Given the description of an element on the screen output the (x, y) to click on. 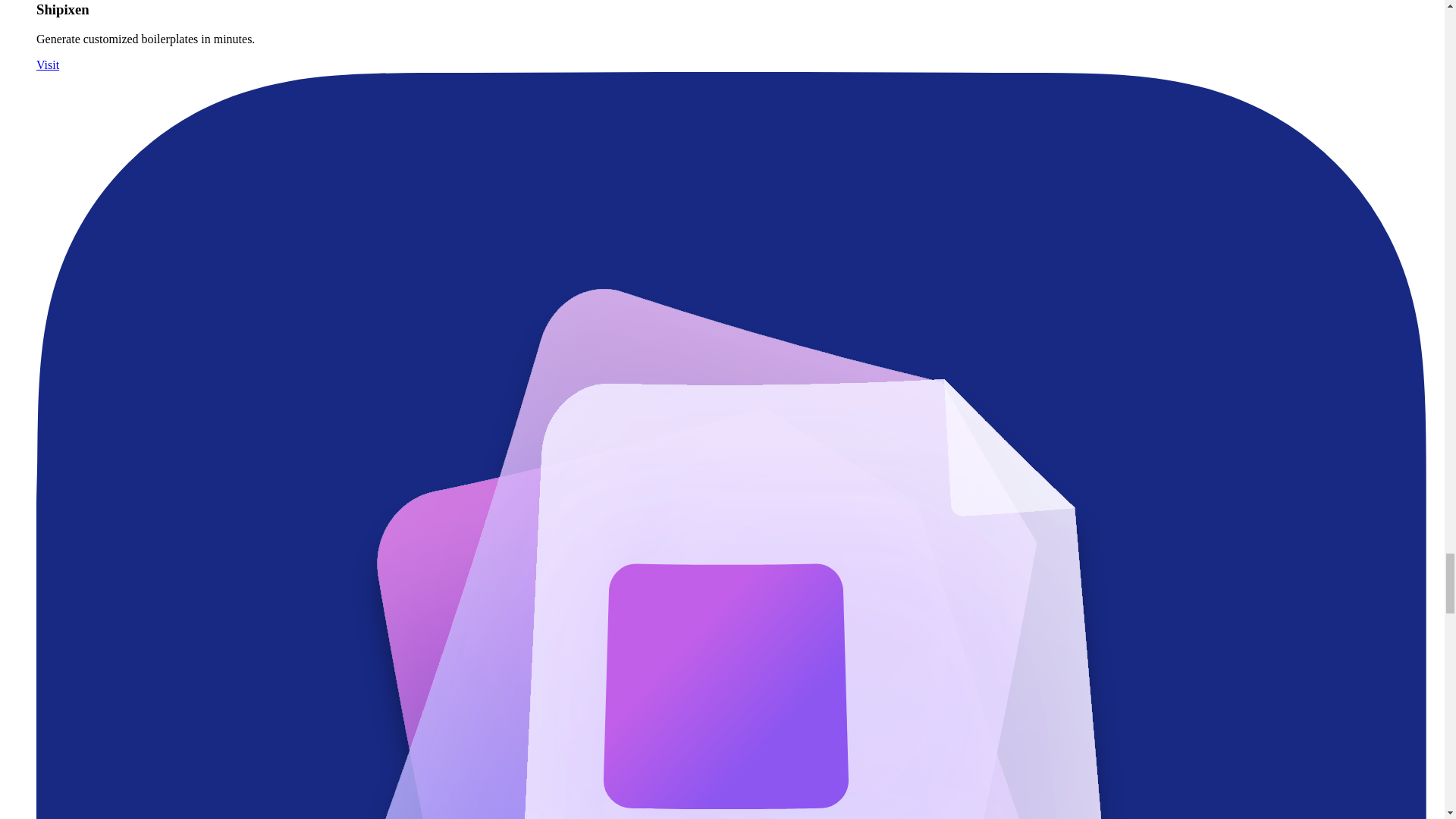
Visit (47, 64)
